Given the description of an element on the screen output the (x, y) to click on. 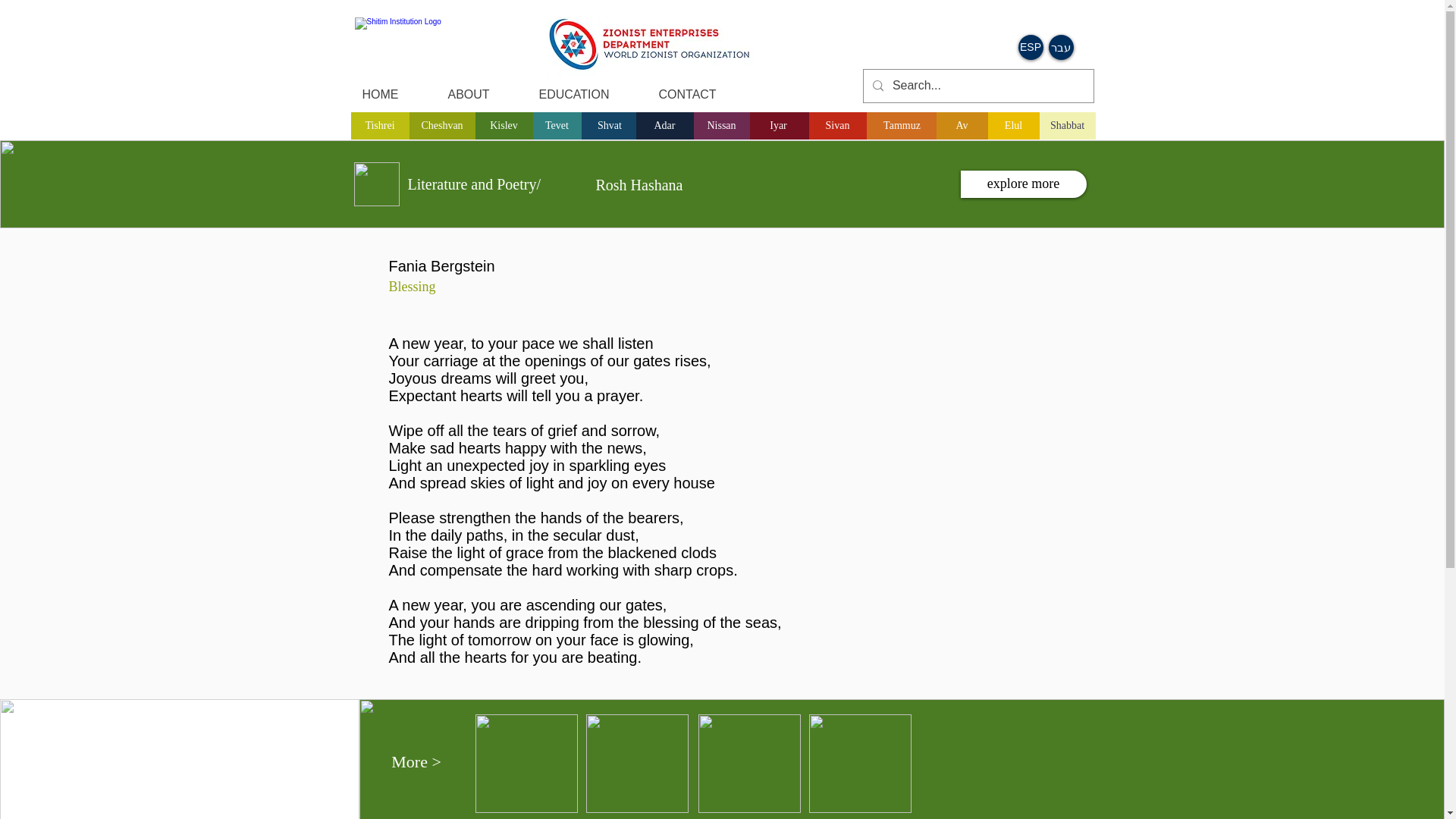
HOME (392, 94)
CONTACT (700, 94)
explore more (1022, 184)
ABOUT (481, 94)
World Zionist Organisation (649, 46)
Shabbat (1066, 125)
EDUCATION (587, 94)
